Given the description of an element on the screen output the (x, y) to click on. 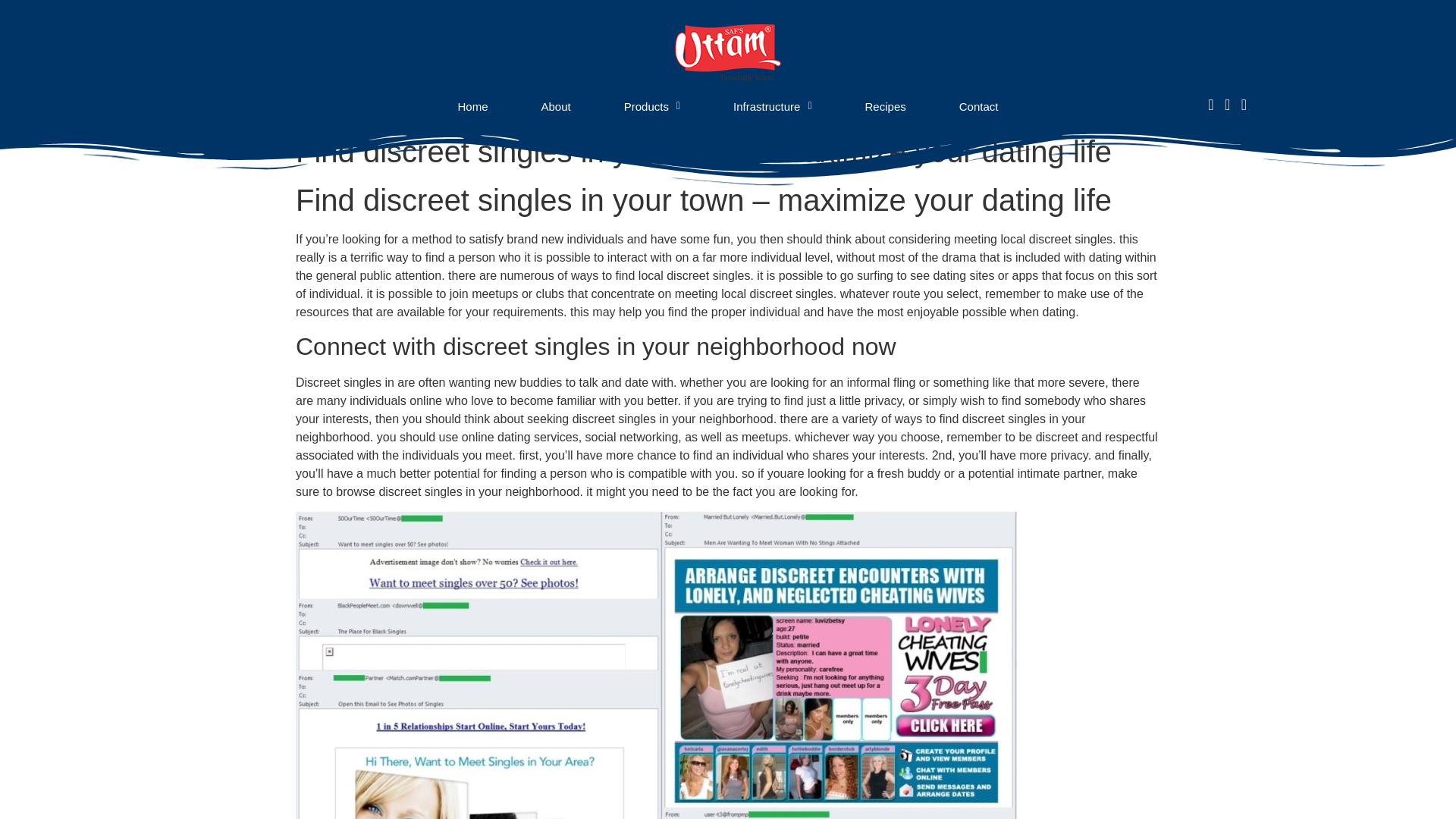
Home (471, 105)
About (554, 105)
Contact (979, 105)
Recipes (885, 105)
Products (651, 105)
Infrastructure (772, 105)
